Given the description of an element on the screen output the (x, y) to click on. 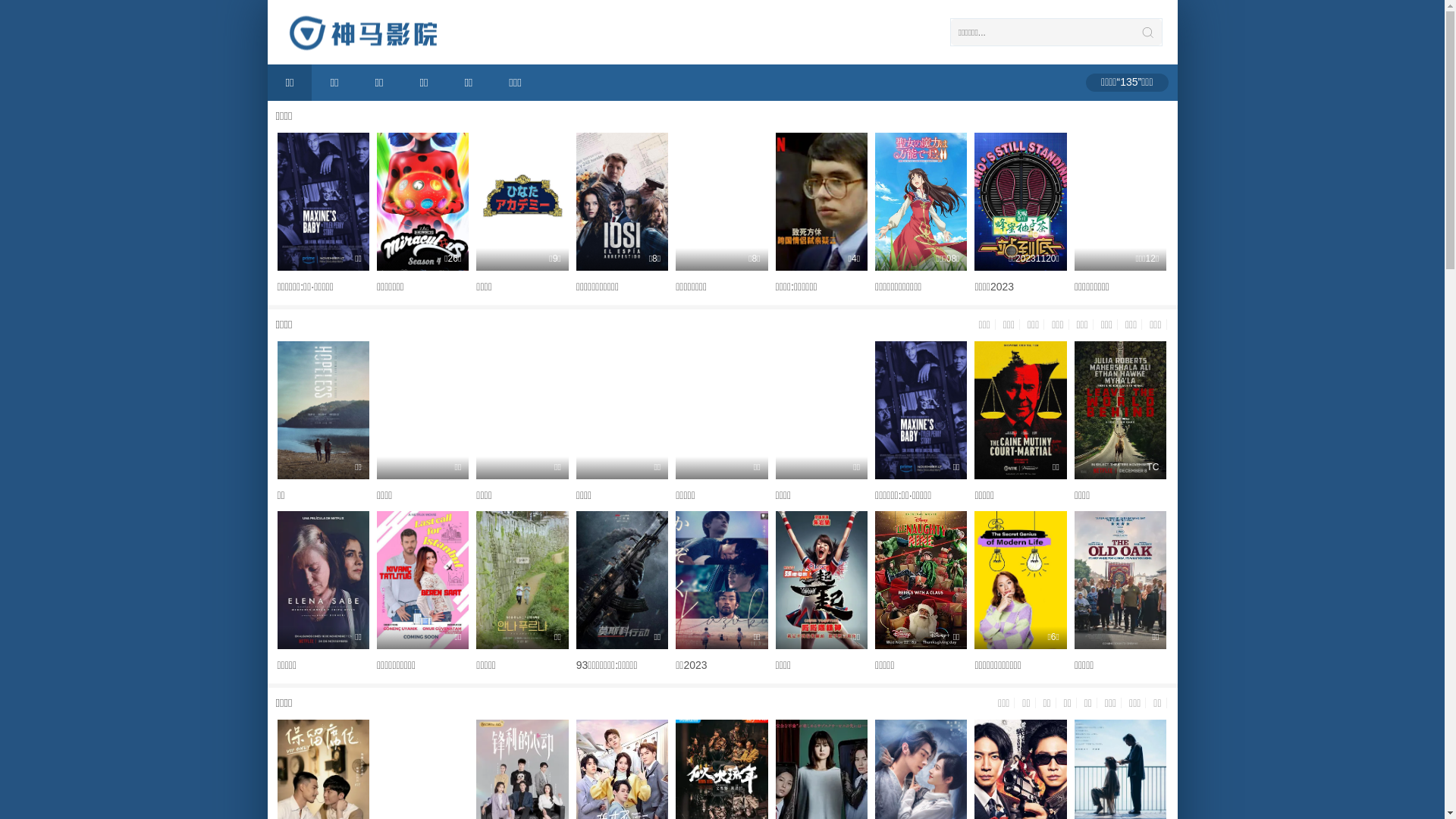
TC Element type: text (1120, 410)
